Given the description of an element on the screen output the (x, y) to click on. 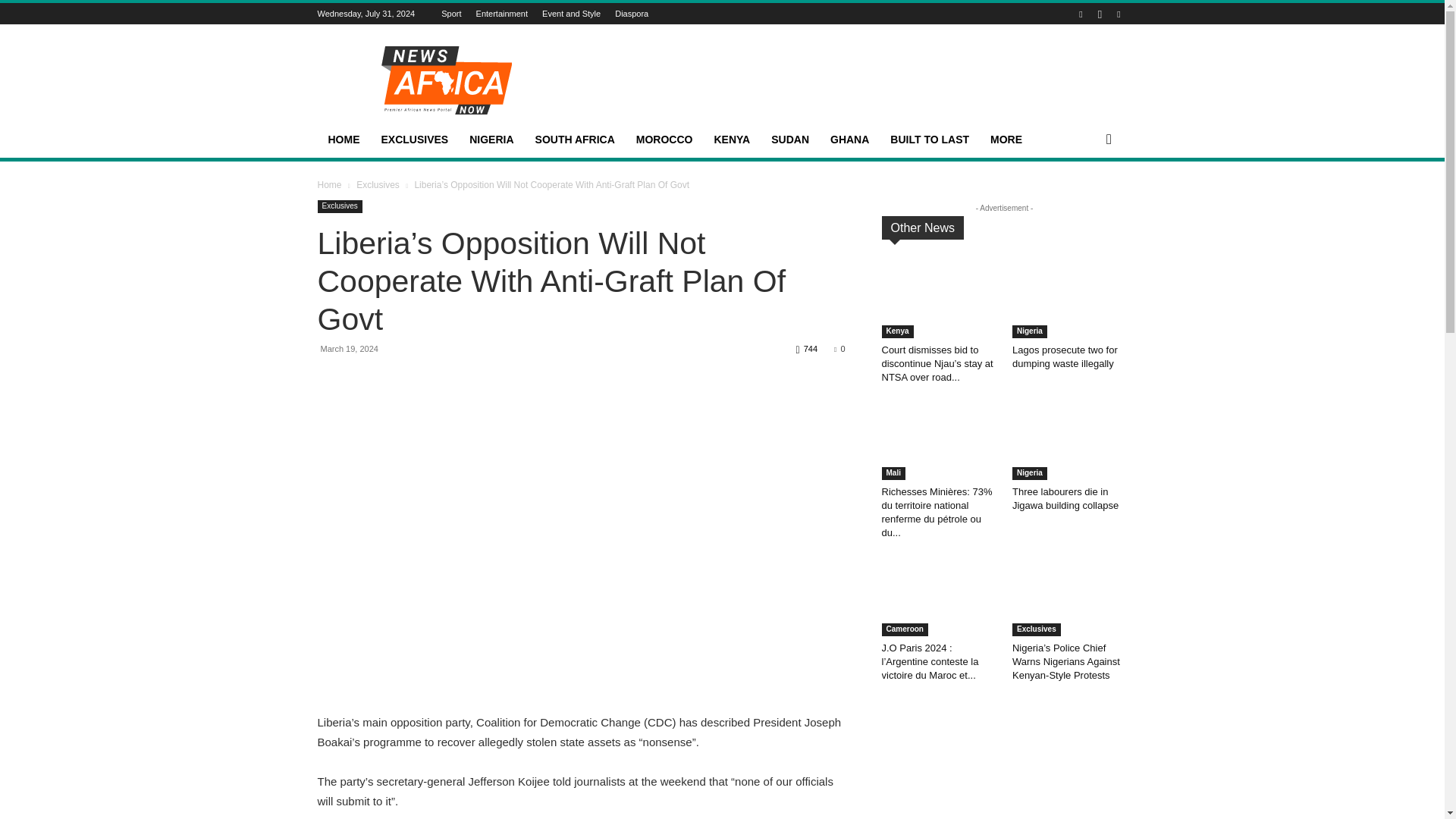
MOROCCO (664, 139)
Event and Style (570, 13)
Entertainment (501, 13)
HOME (343, 139)
Sport (451, 13)
EXCLUSIVES (413, 139)
SOUTH AFRICA (575, 139)
View all posts in Exclusives (377, 184)
NIGERIA (491, 139)
Diaspora (630, 13)
